Given the description of an element on the screen output the (x, y) to click on. 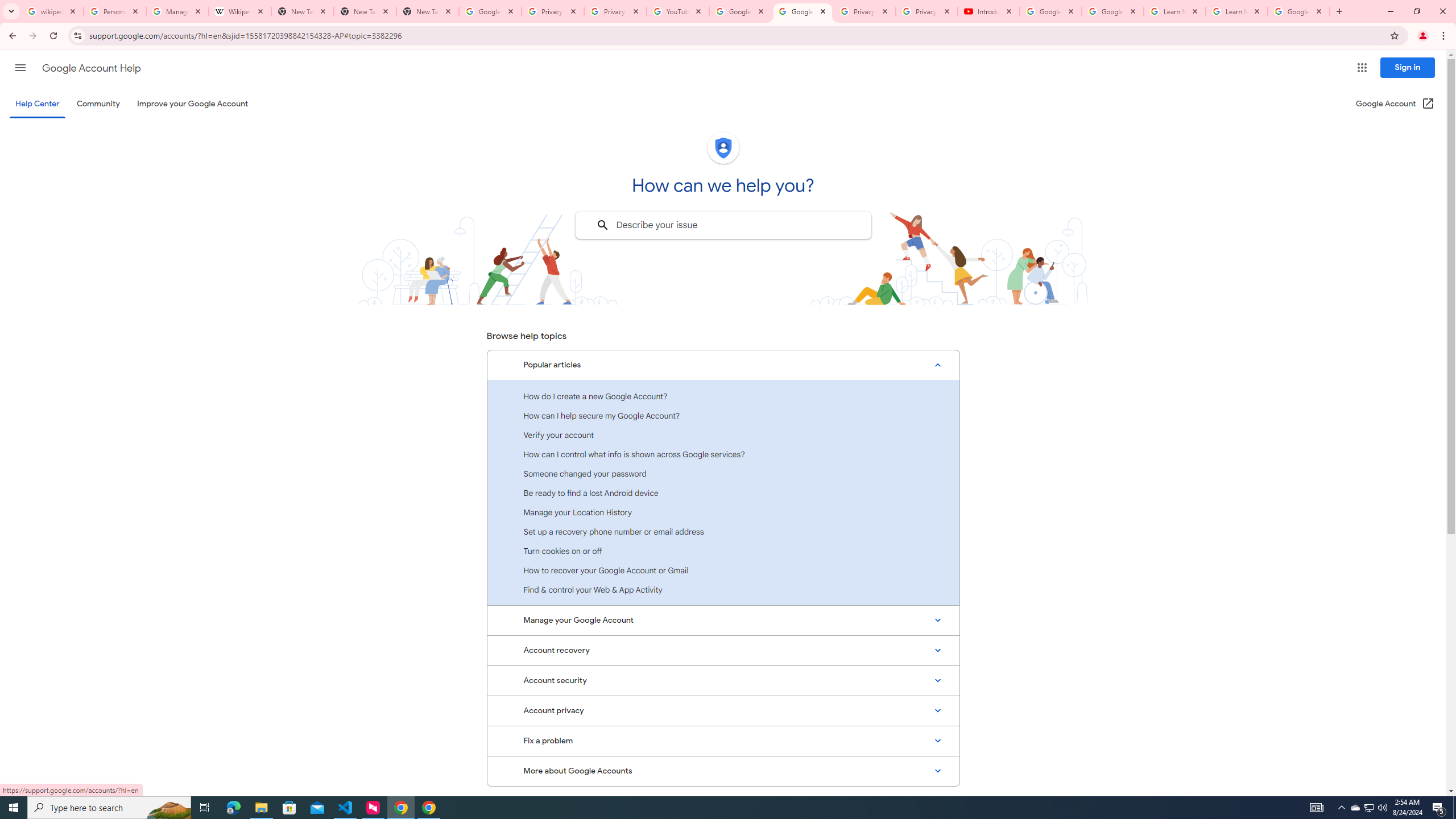
Improve your Google Account (192, 103)
Be ready to find a lost Android device (722, 492)
More about Google Accounts (722, 771)
Google Account Help (1111, 11)
